Given the description of an element on the screen output the (x, y) to click on. 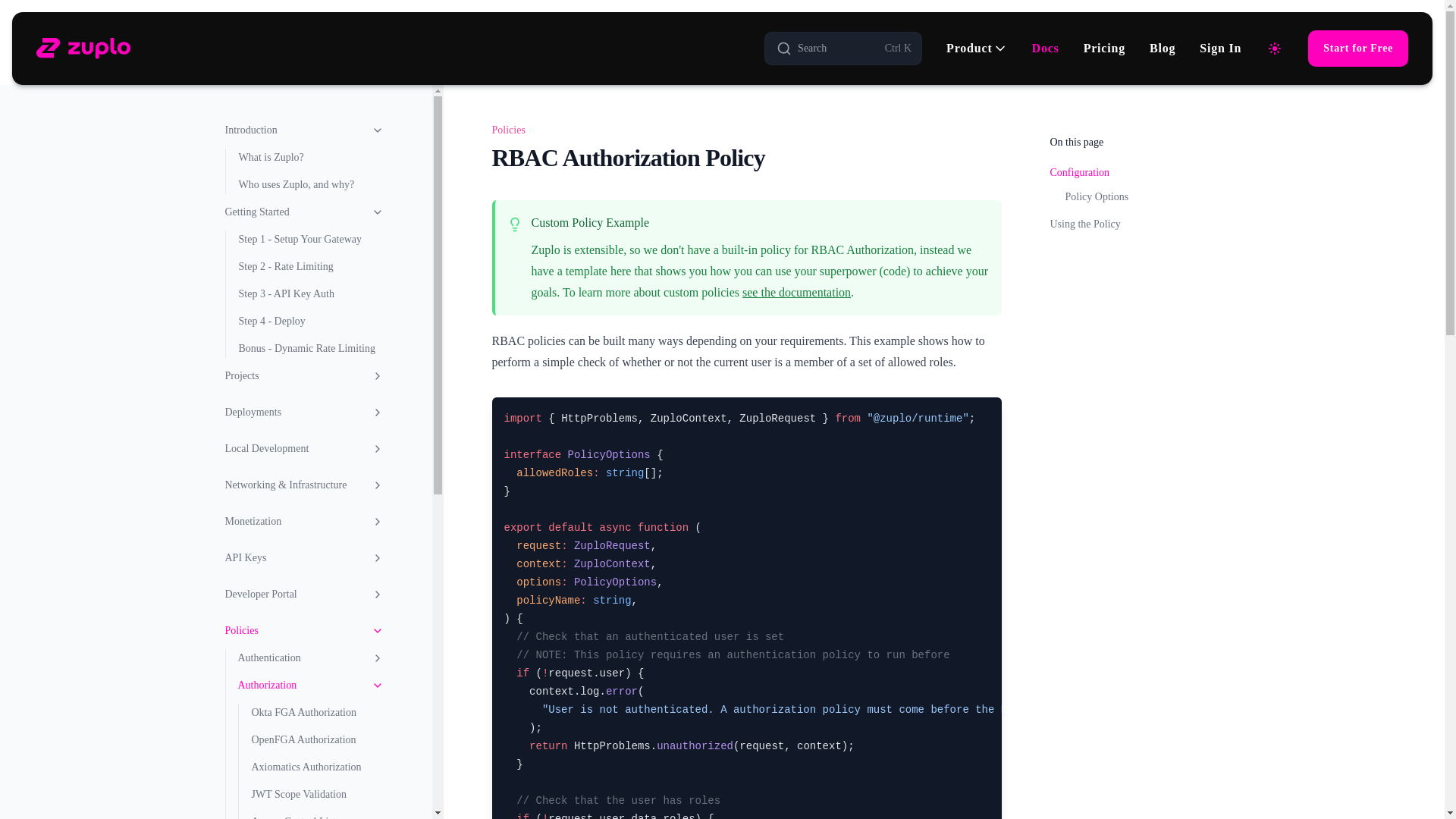
Step 3 - API Key Auth (310, 294)
Blog (1162, 48)
Step 4 - Deploy (310, 321)
Docs (1045, 48)
Introduction (303, 130)
Sign In (1220, 48)
Step 1 - Setup Your Gateway (310, 239)
Start for Free (1357, 48)
What is Zuplo? (310, 157)
Deployments (303, 412)
Step 2 - Rate Limiting (310, 266)
Product (976, 48)
Bonus - Dynamic Rate Limiting (310, 348)
Pricing (842, 48)
